Given the description of an element on the screen output the (x, y) to click on. 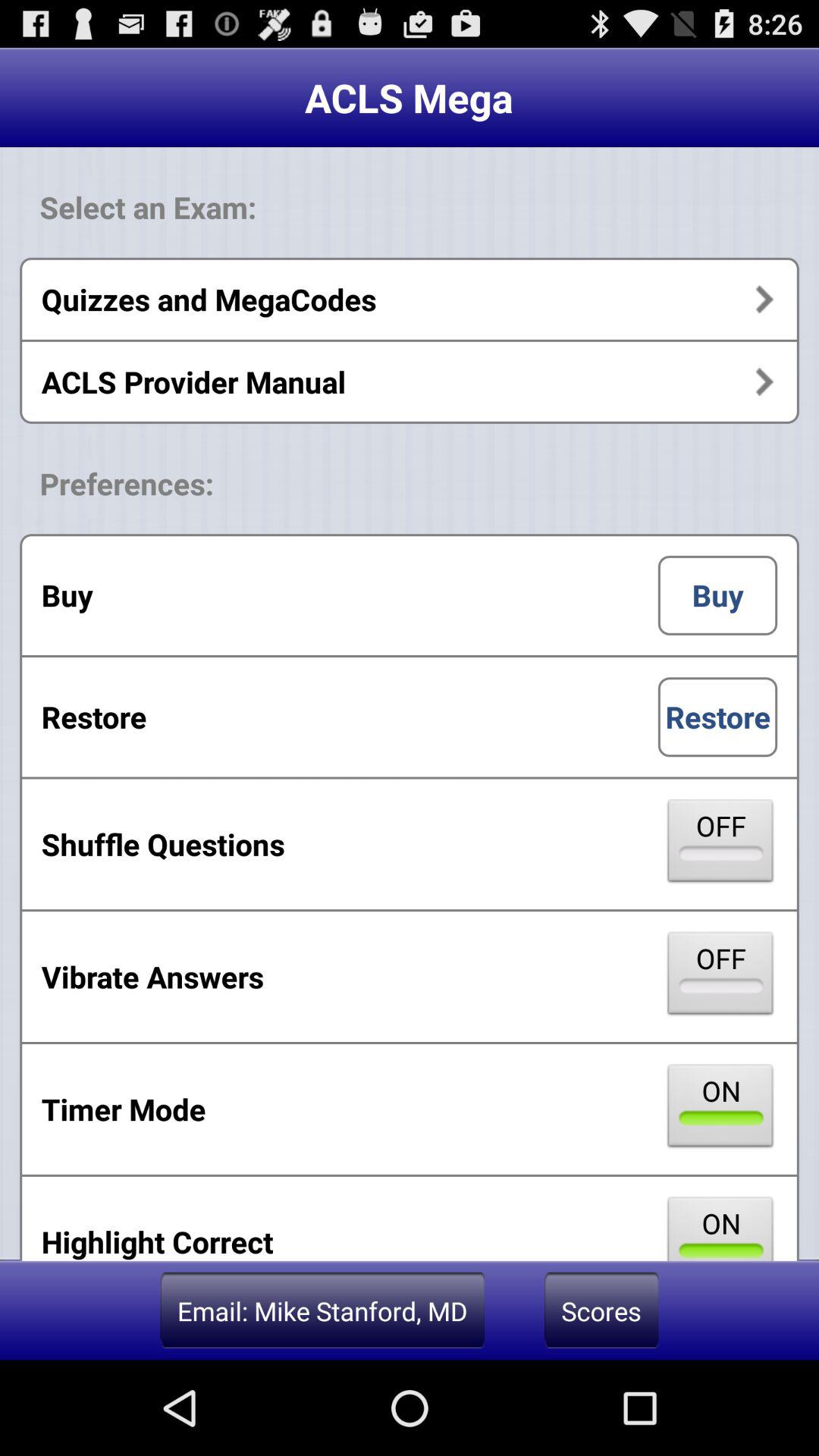
open the button to the left of the scores (322, 1310)
